Given the description of an element on the screen output the (x, y) to click on. 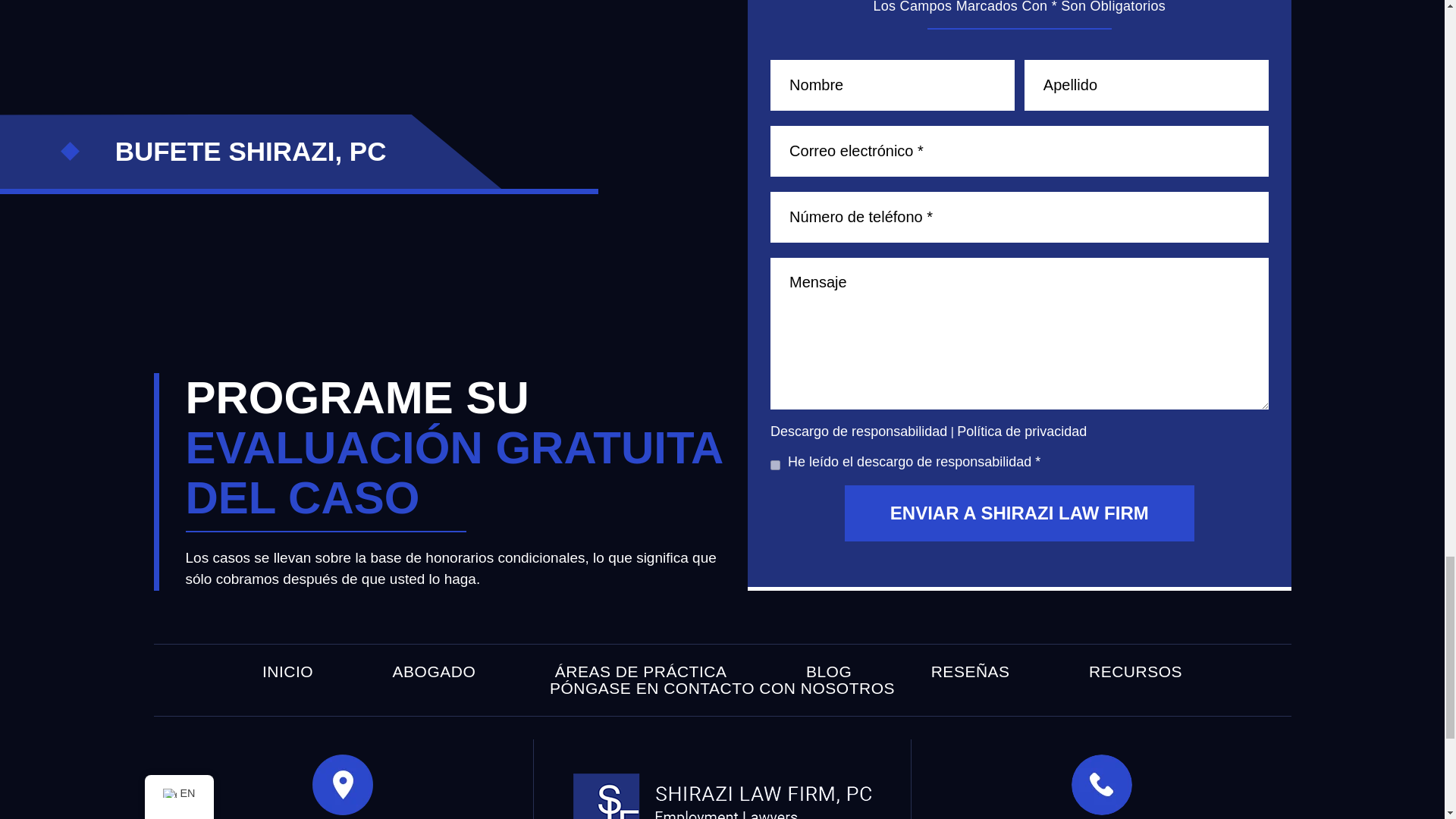
Enviar a Shirazi Law Firm (1018, 513)
